Given the description of an element on the screen output the (x, y) to click on. 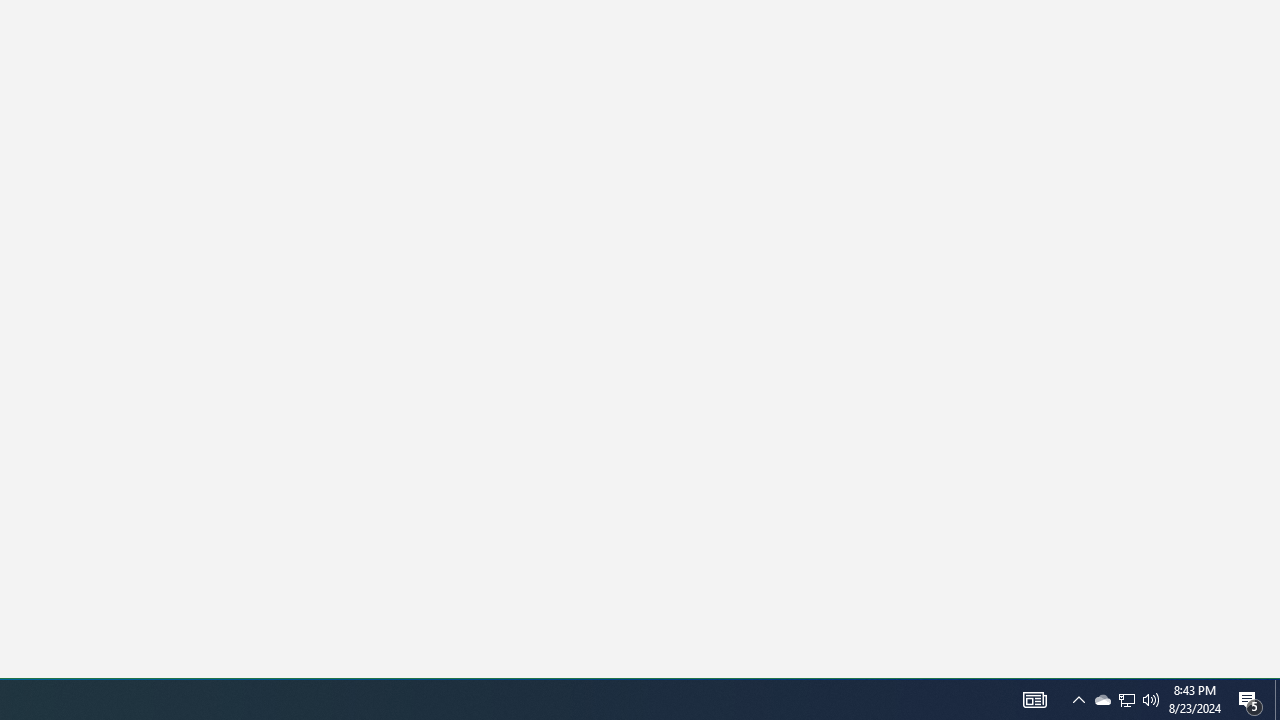
Notification Chevron (1078, 699)
AutomationID: 4105 (1126, 699)
Action Center, 5 new notifications (1034, 699)
Q2790: 100% (1102, 699)
Show desktop (1250, 699)
User Promoted Notification Area (1151, 699)
